Given the description of an element on the screen output the (x, y) to click on. 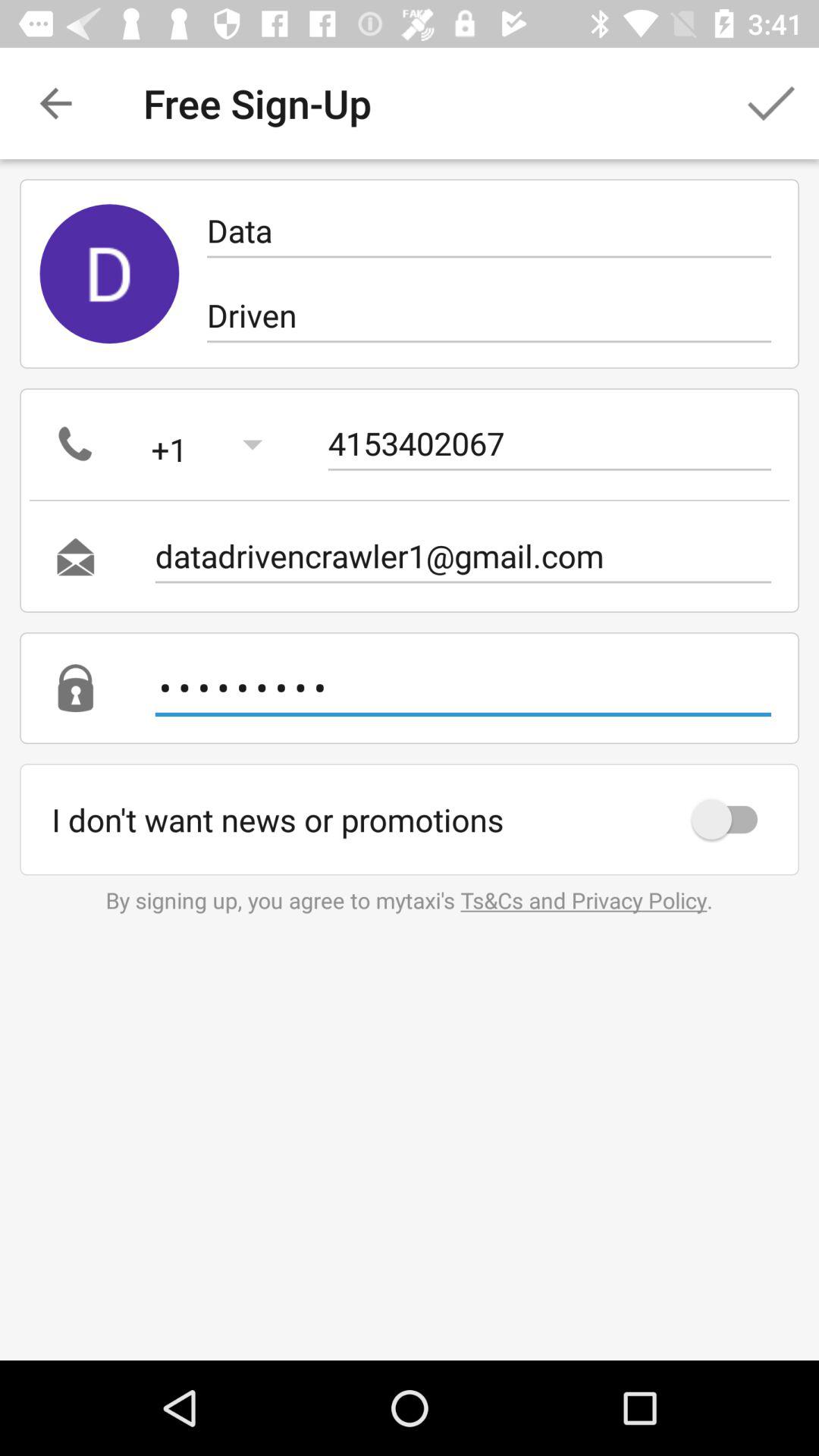
select the item to the right of the free sign-up icon (771, 103)
